Given the description of an element on the screen output the (x, y) to click on. 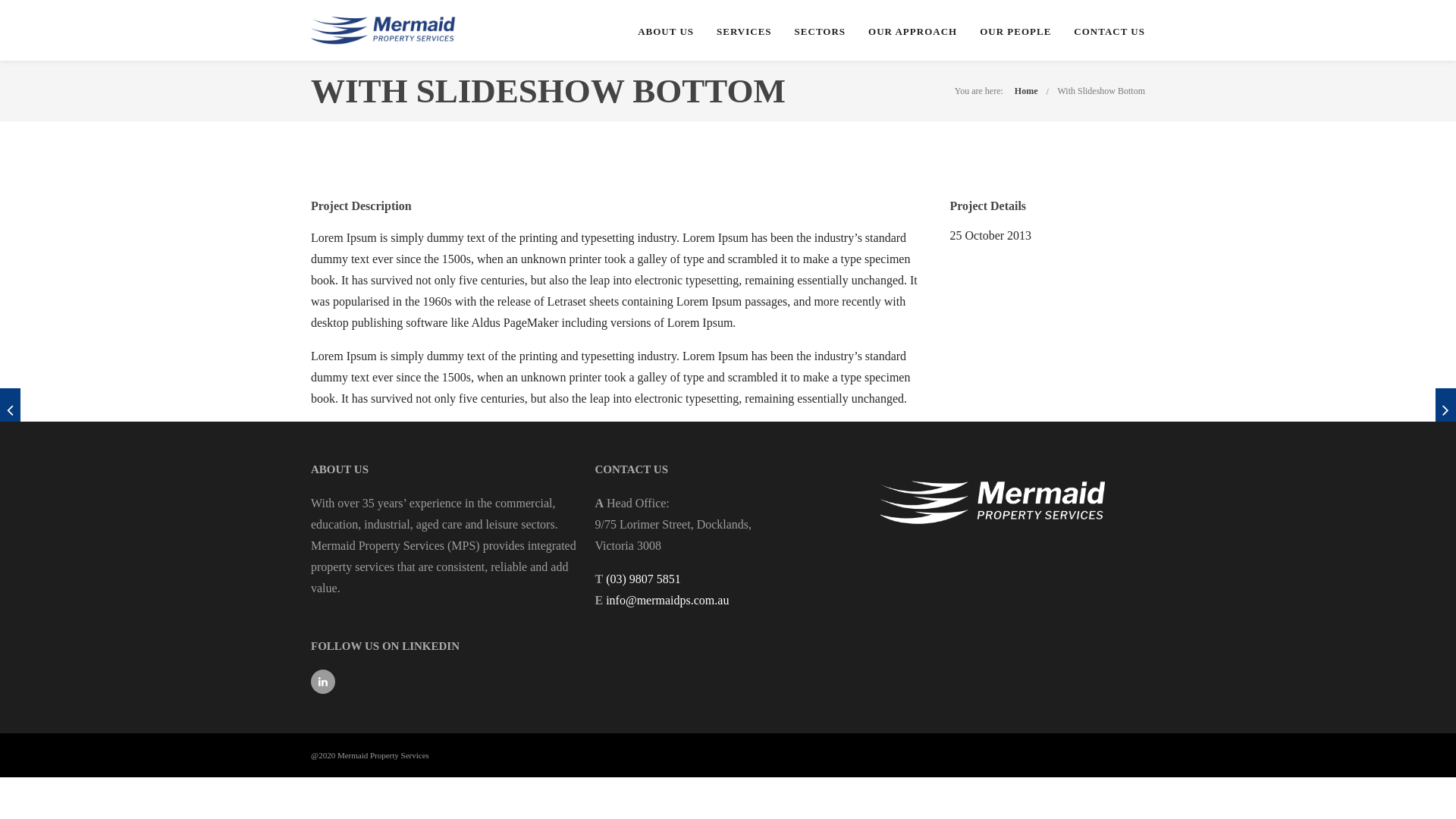
CONTACT US Element type: text (1109, 31)
Home Element type: text (1026, 90)
With Slideshow Bottom Element type: text (1101, 90)
(03) 9807 5851 Element type: text (642, 578)
SECTORS Element type: text (819, 31)
OUR APPROACH Element type: text (912, 31)
ABOUT US Element type: text (665, 31)
info@mermaidps.com.au Element type: text (666, 599)
SERVICES Element type: text (743, 31)
OUR PEOPLE Element type: text (1015, 31)
